Given the description of an element on the screen output the (x, y) to click on. 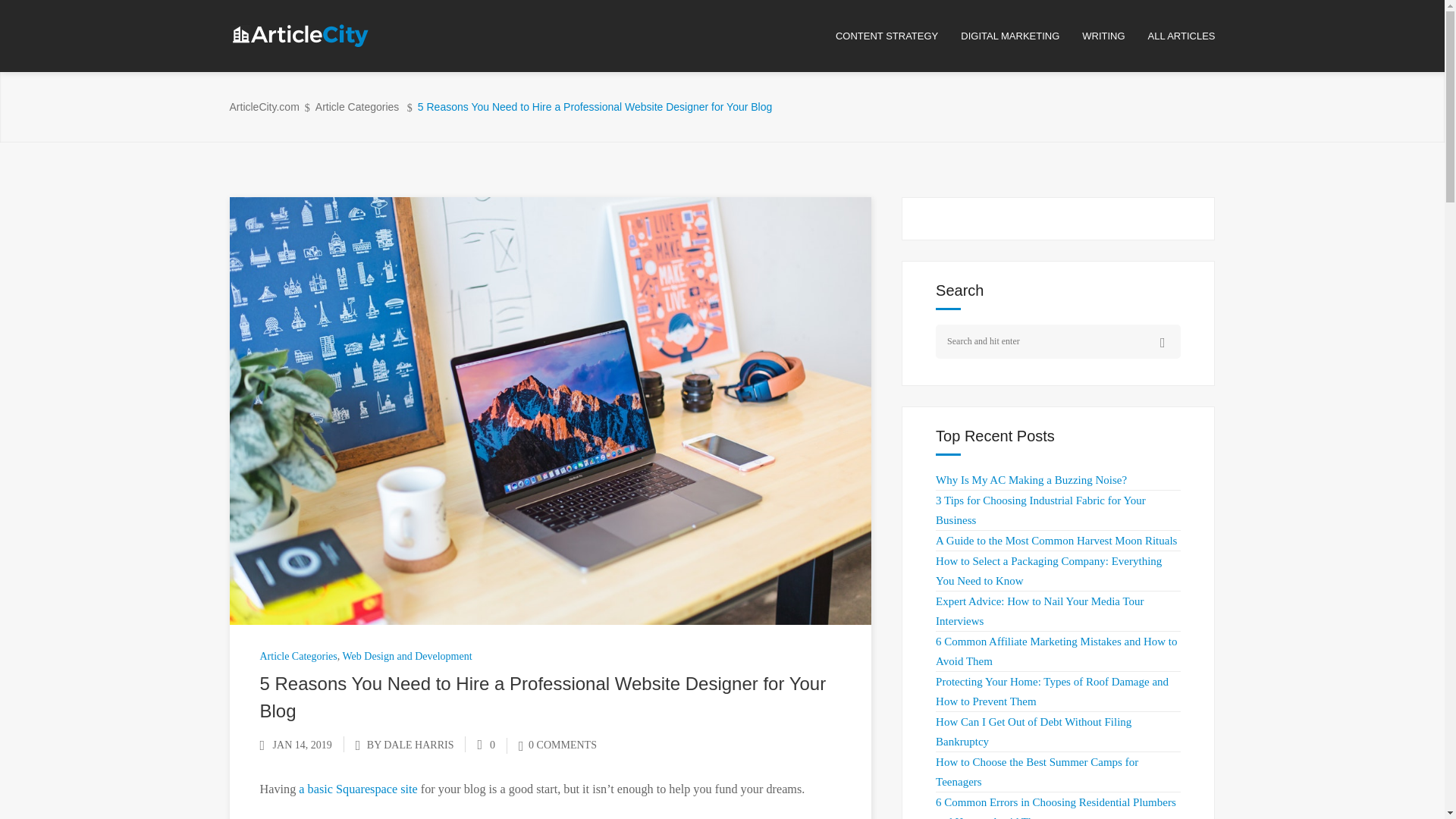
a basic Squarespace site (357, 789)
Article Categories (297, 655)
3 Tips for Choosing Industrial Fabric for Your Business (1040, 510)
How to Choose the Best Summer Camps for Teenagers (1037, 771)
How Can I Get Out of Debt Without Filing Bankruptcy (1033, 731)
0 COMMENTS (557, 745)
Expert Advice: How to Nail Your Media Tour Interviews (1039, 611)
ArticleCity.com (263, 107)
WRITING (1114, 36)
